Given the description of an element on the screen output the (x, y) to click on. 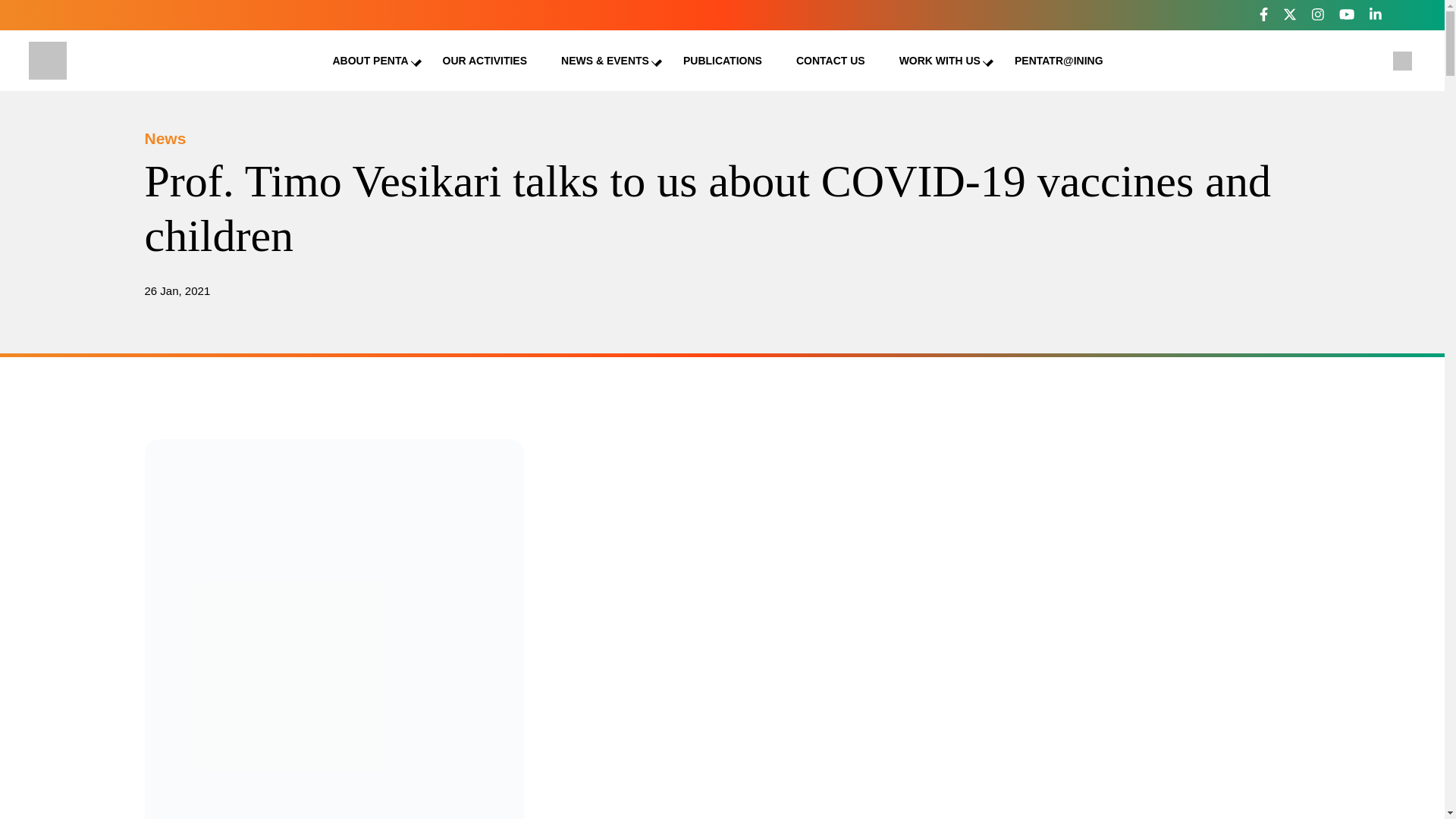
ABOUT PENTA (369, 60)
OUR ACTIVITIES (484, 60)
News (165, 138)
PUBLICATIONS (722, 60)
WORK WITH US (939, 60)
CONTACT US (830, 60)
